Given the description of an element on the screen output the (x, y) to click on. 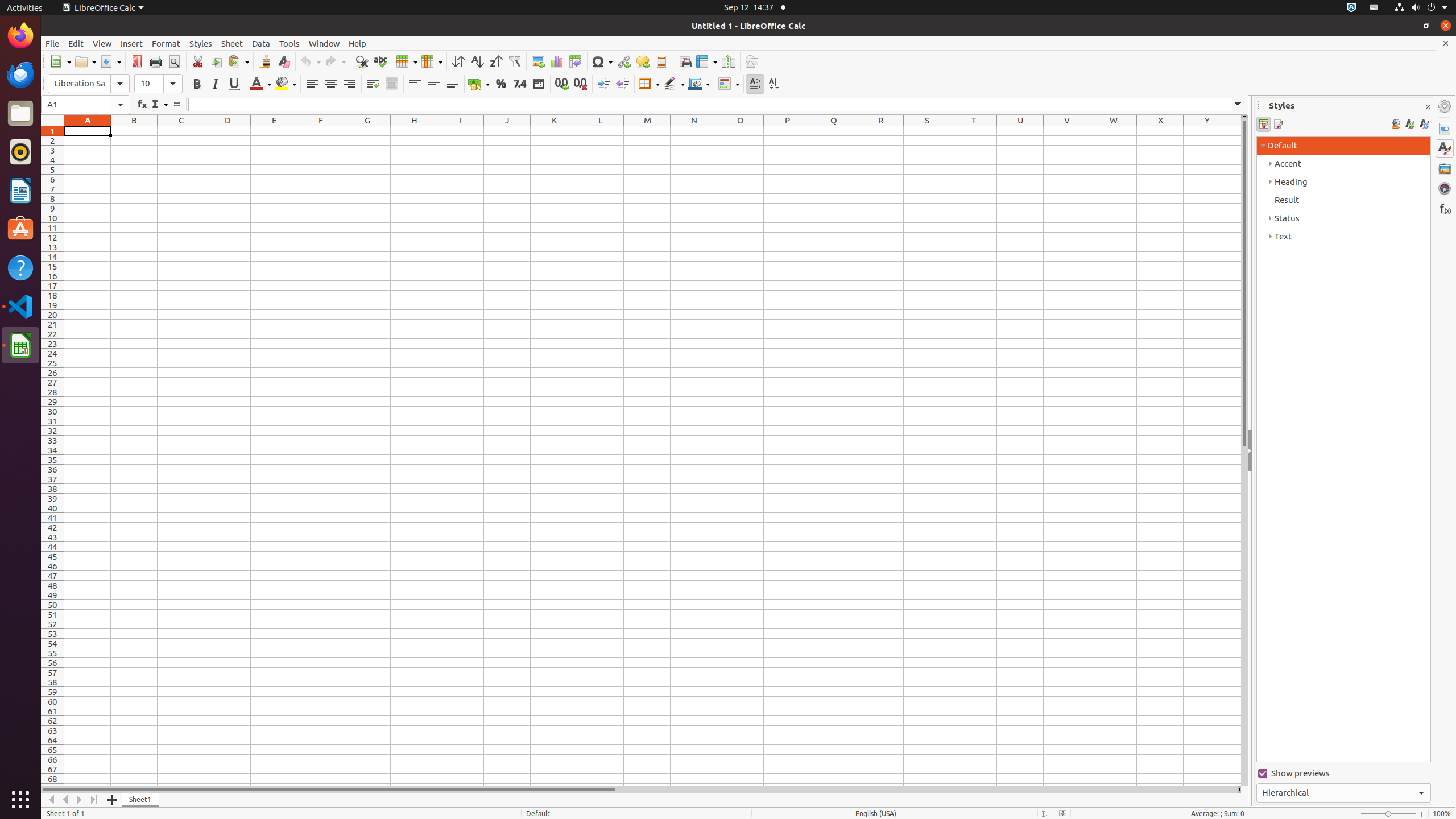
Print Preview Element type: toggle-button (173, 61)
Print Area Element type: push-button (684, 61)
Column Element type: push-button (431, 61)
Wrap Text Element type: push-button (372, 83)
Move To End Element type: push-button (94, 799)
